Given the description of an element on the screen output the (x, y) to click on. 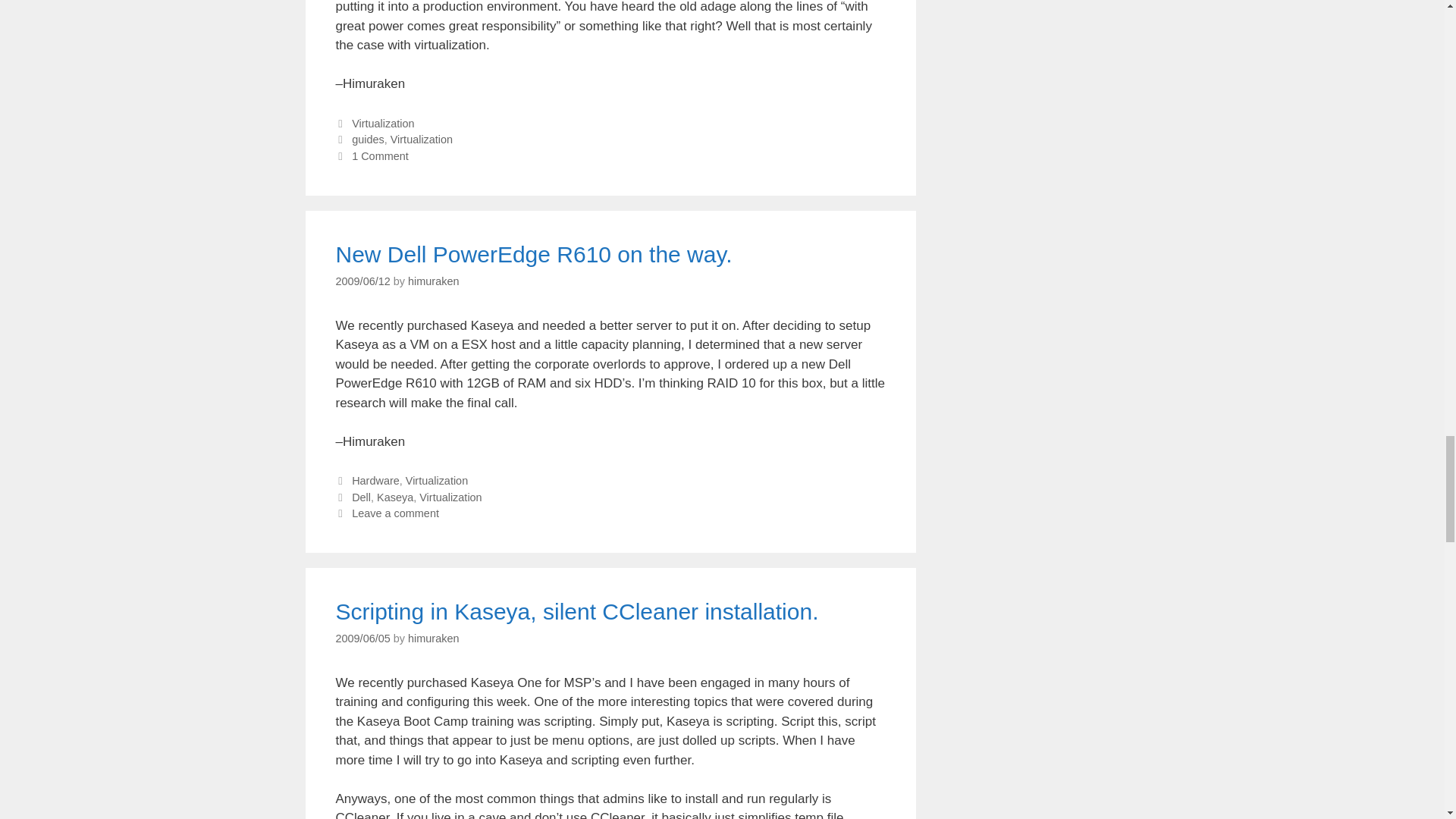
View all posts by himuraken (432, 638)
View all posts by himuraken (432, 281)
10:25 pm (362, 638)
8:45 pm (362, 281)
